Given the description of an element on the screen output the (x, y) to click on. 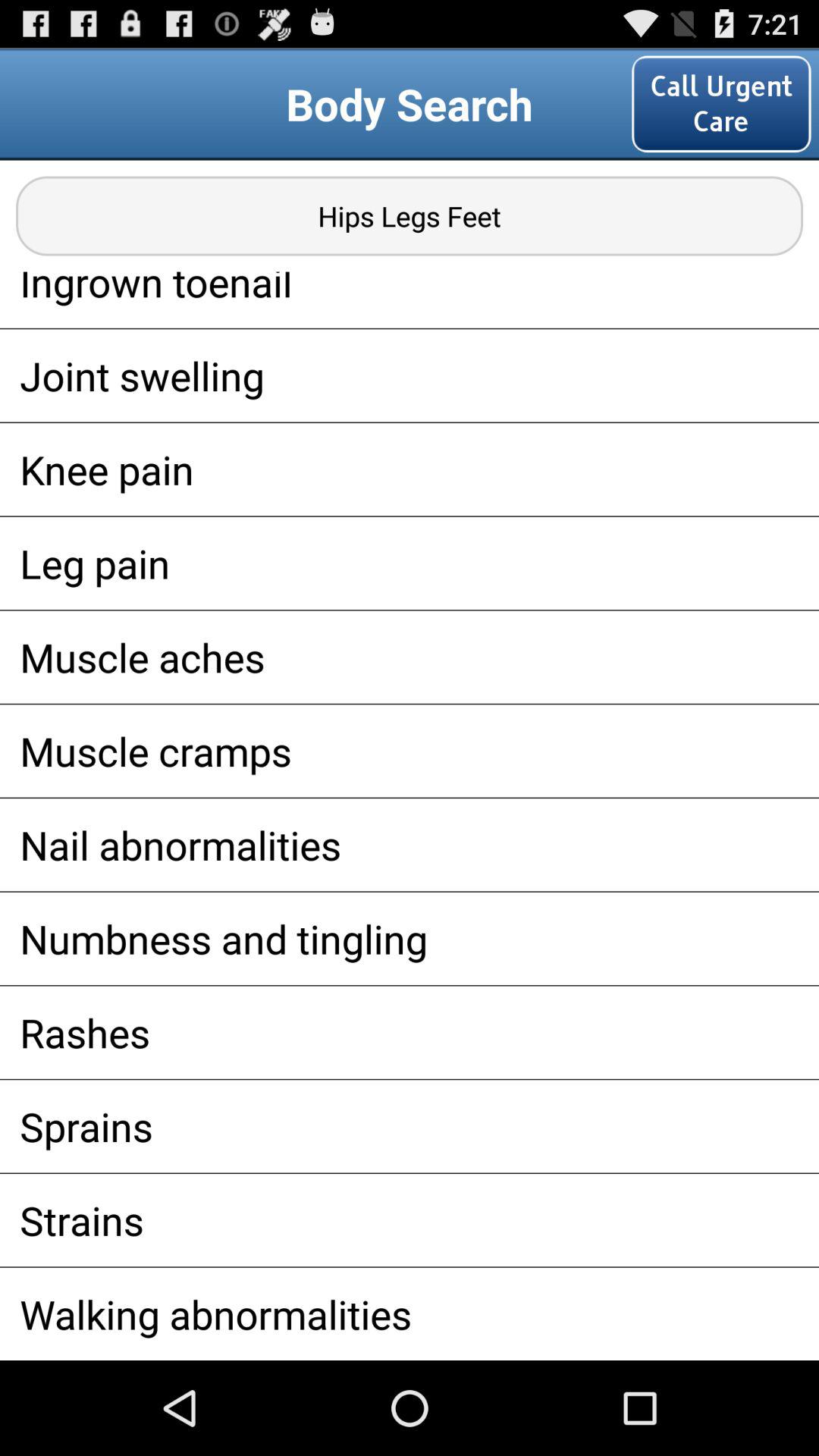
launch the app below hips legs feet icon (409, 299)
